Given the description of an element on the screen output the (x, y) to click on. 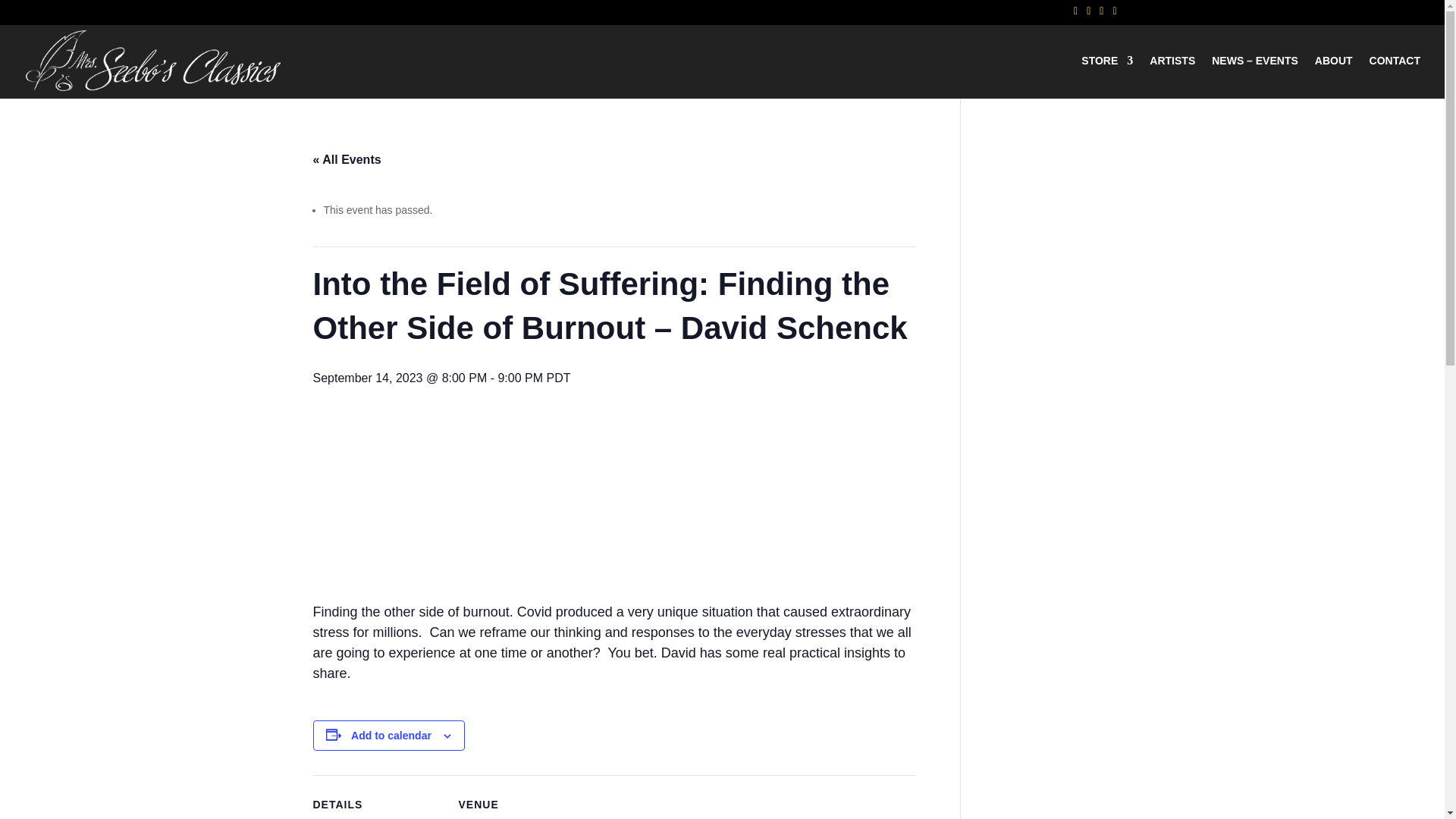
Add to calendar (390, 735)
CONTACT (1395, 76)
STORE (1106, 76)
ARTISTS (1172, 76)
